Given the description of an element on the screen output the (x, y) to click on. 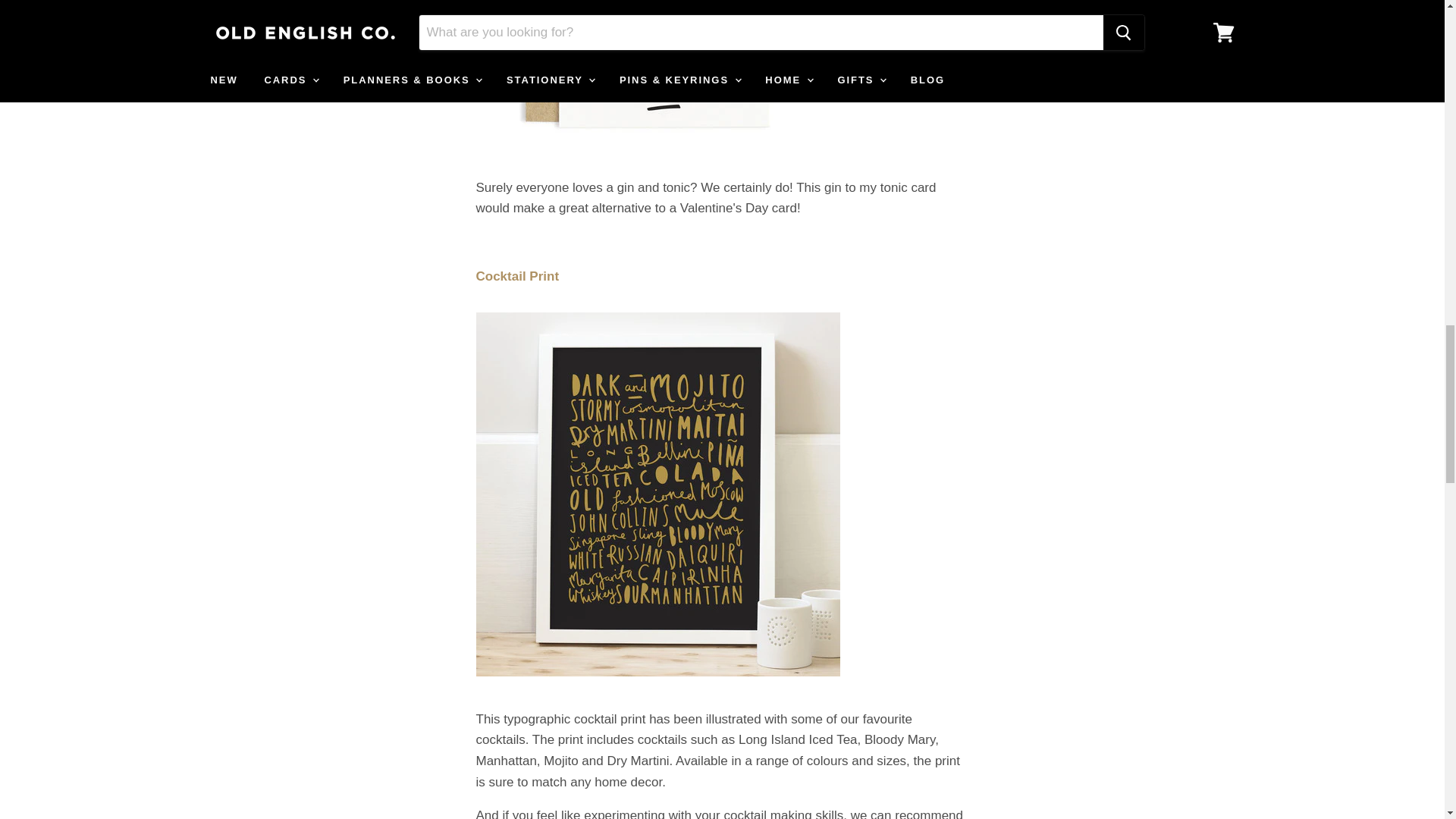
gin to my tonic card (658, 153)
typography cocktail print (658, 685)
cocktail print (517, 276)
